Given the description of an element on the screen output the (x, y) to click on. 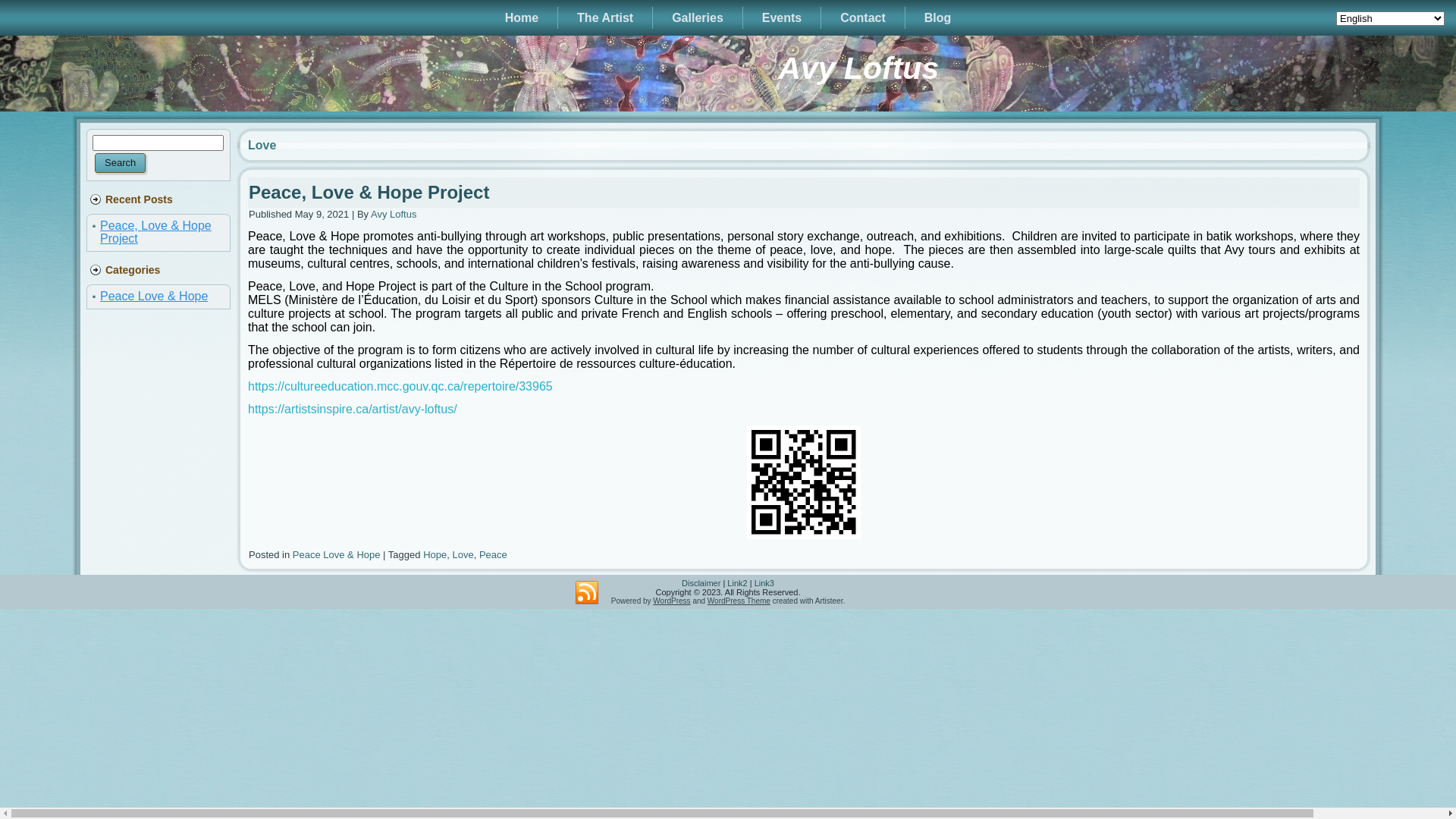
Contact Element type: text (862, 17)
Avy Loftus Element type: text (858, 67)
Blog Element type: text (937, 17)
Peace Love & Hope Element type: text (336, 554)
Galleries Element type: text (697, 17)
Link2 Element type: text (736, 582)
https://cultureeducation.mcc.gouv.qc.ca/repertoire/33965 Element type: text (399, 385)
WordPress Theme Element type: text (738, 600)
Search Element type: text (119, 162)
Peace, Love & Hope Project Element type: text (155, 231)
Avy Loftus Element type: text (393, 213)
Peace, Love & Hope Project Element type: text (368, 192)
Love Element type: text (462, 554)
The Artist Element type: text (604, 17)
Peace Element type: text (493, 554)
Avy Loftus RSS Feed Element type: hover (586, 592)
Events Element type: text (781, 17)
Peace Love & Hope Element type: text (153, 295)
Link3 Element type: text (764, 582)
Home Element type: text (521, 17)
Disclaimer Element type: text (700, 582)
Hope Element type: text (434, 554)
https://artistsinspire.ca/artist/avy-loftus/ Element type: text (352, 408)
WordPress Element type: text (671, 600)
